Given the description of an element on the screen output the (x, y) to click on. 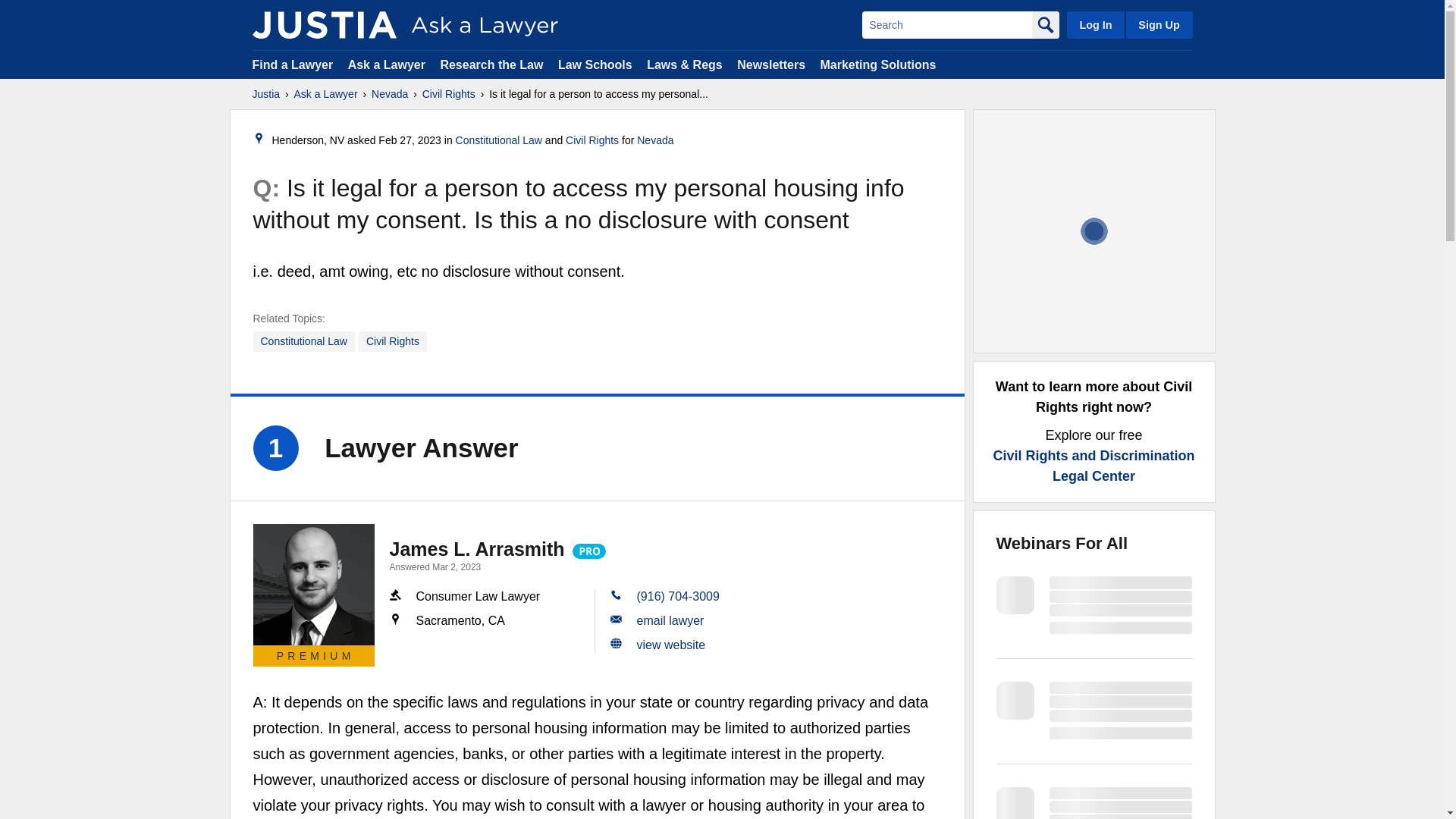
Justia (265, 93)
Find a Lawyer (292, 64)
Research the Law (491, 64)
Civil Rights (392, 341)
Newsletters (770, 64)
Log In (1094, 24)
James L. Arrasmith (477, 548)
Marketing Solutions (877, 64)
Civil Rights (449, 93)
email lawyer (670, 620)
Law Schools (594, 64)
James L. Arrasmith (313, 584)
Justia (323, 24)
Ask a Lawyer (326, 93)
Ask a Lawyer (388, 64)
